Given the description of an element on the screen output the (x, y) to click on. 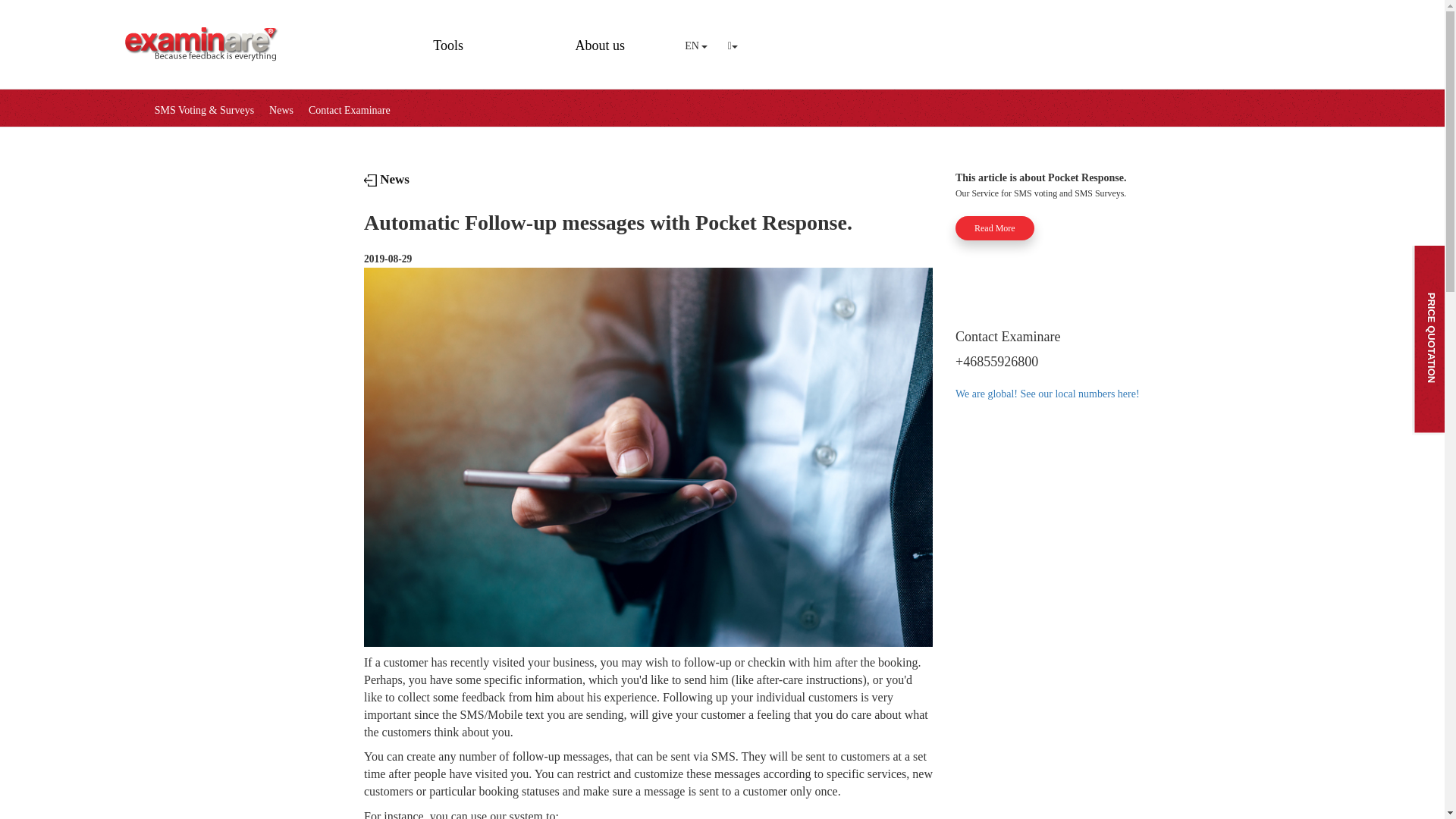
About us (599, 39)
EN (695, 46)
Tools (448, 39)
